Given the description of an element on the screen output the (x, y) to click on. 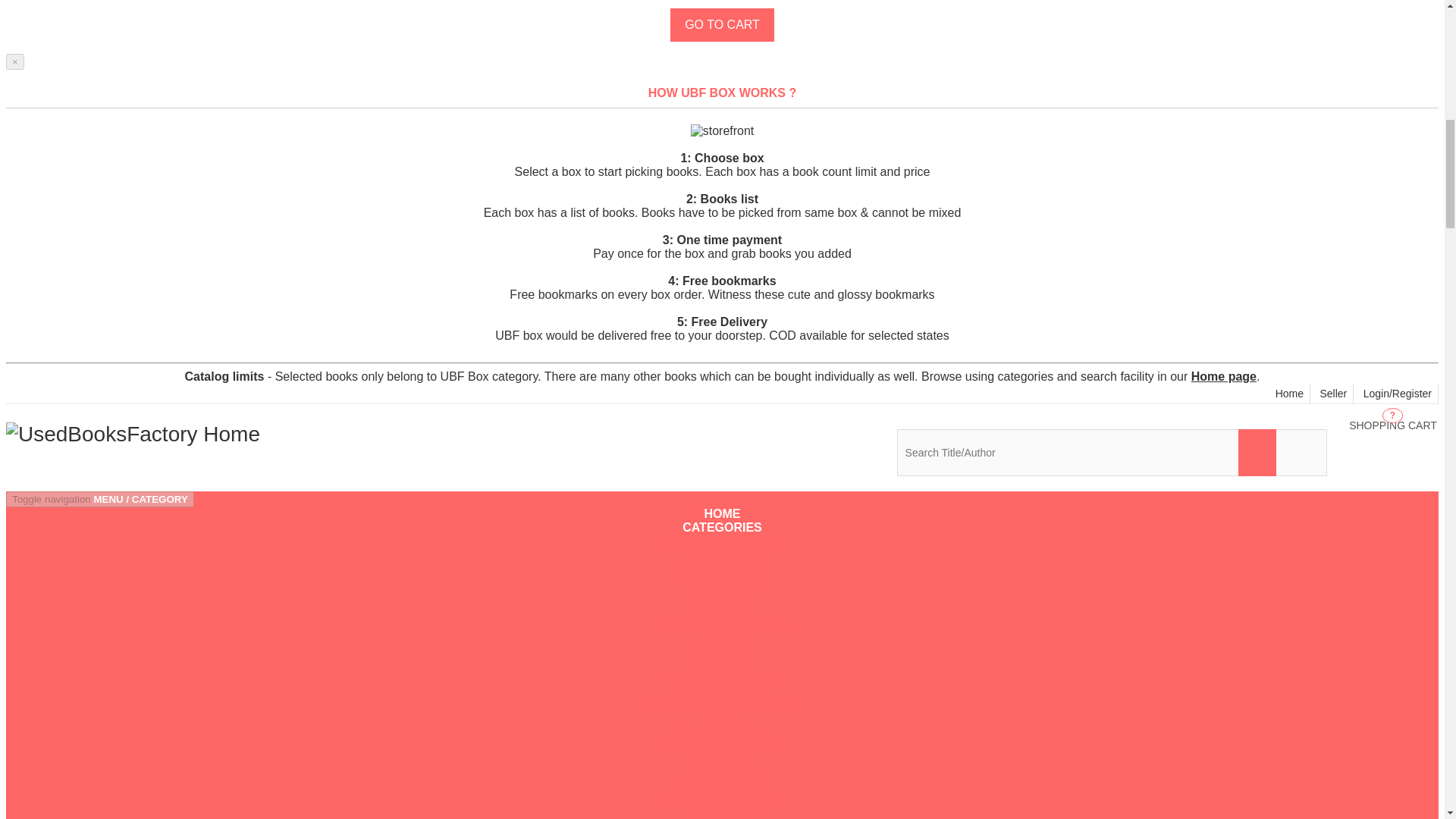
HOME (722, 513)
Seller (1333, 393)
CATEGORIES (722, 527)
Mystery,Thriller,Adventure (721, 704)
Surprise box (1393, 425)
Home (722, 554)
Home page (1289, 393)
UsedBooksFactory Home (1223, 376)
Book sets (132, 434)
Classics, Literature (722, 609)
Gift Box (721, 677)
Fiction (721, 595)
Recently Added Books (722, 636)
kids Surprise box (721, 540)
